Given the description of an element on the screen output the (x, y) to click on. 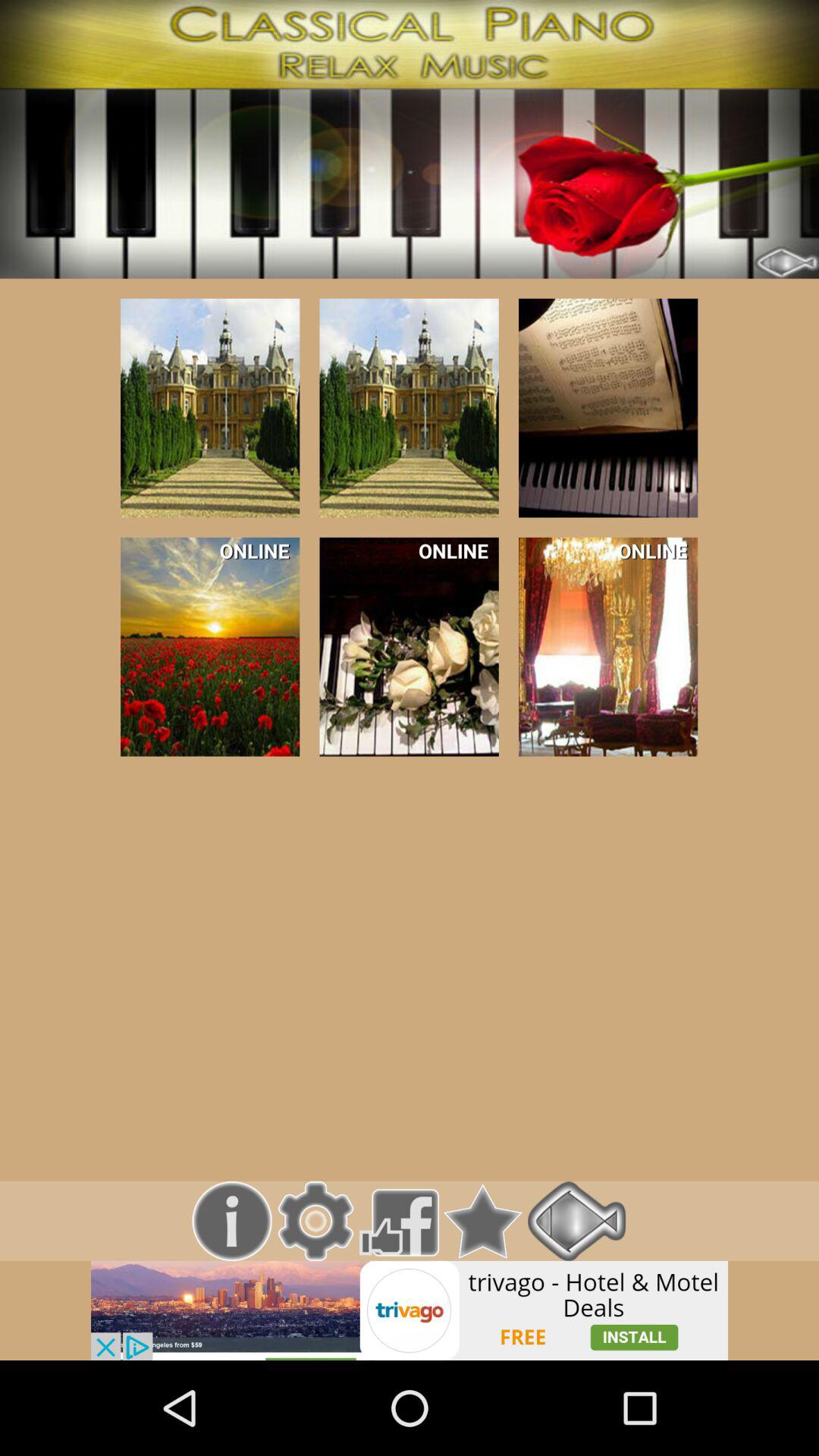
picture of a piano (607, 407)
